Given the description of an element on the screen output the (x, y) to click on. 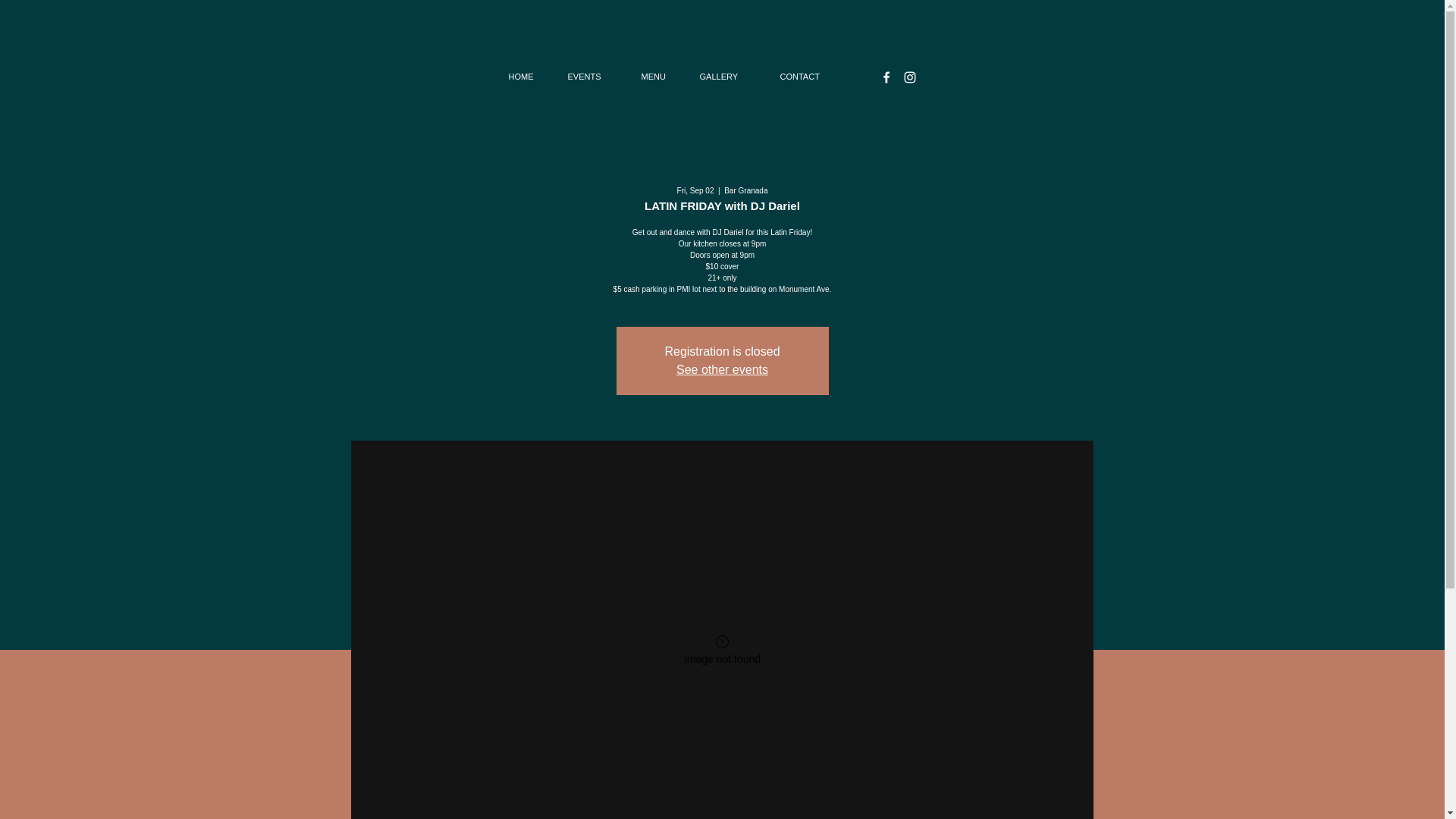
See other events (722, 369)
EVENTS (593, 76)
MENU (657, 76)
CONTACT (811, 76)
HOME (526, 76)
GALLERY (728, 76)
